Given the description of an element on the screen output the (x, y) to click on. 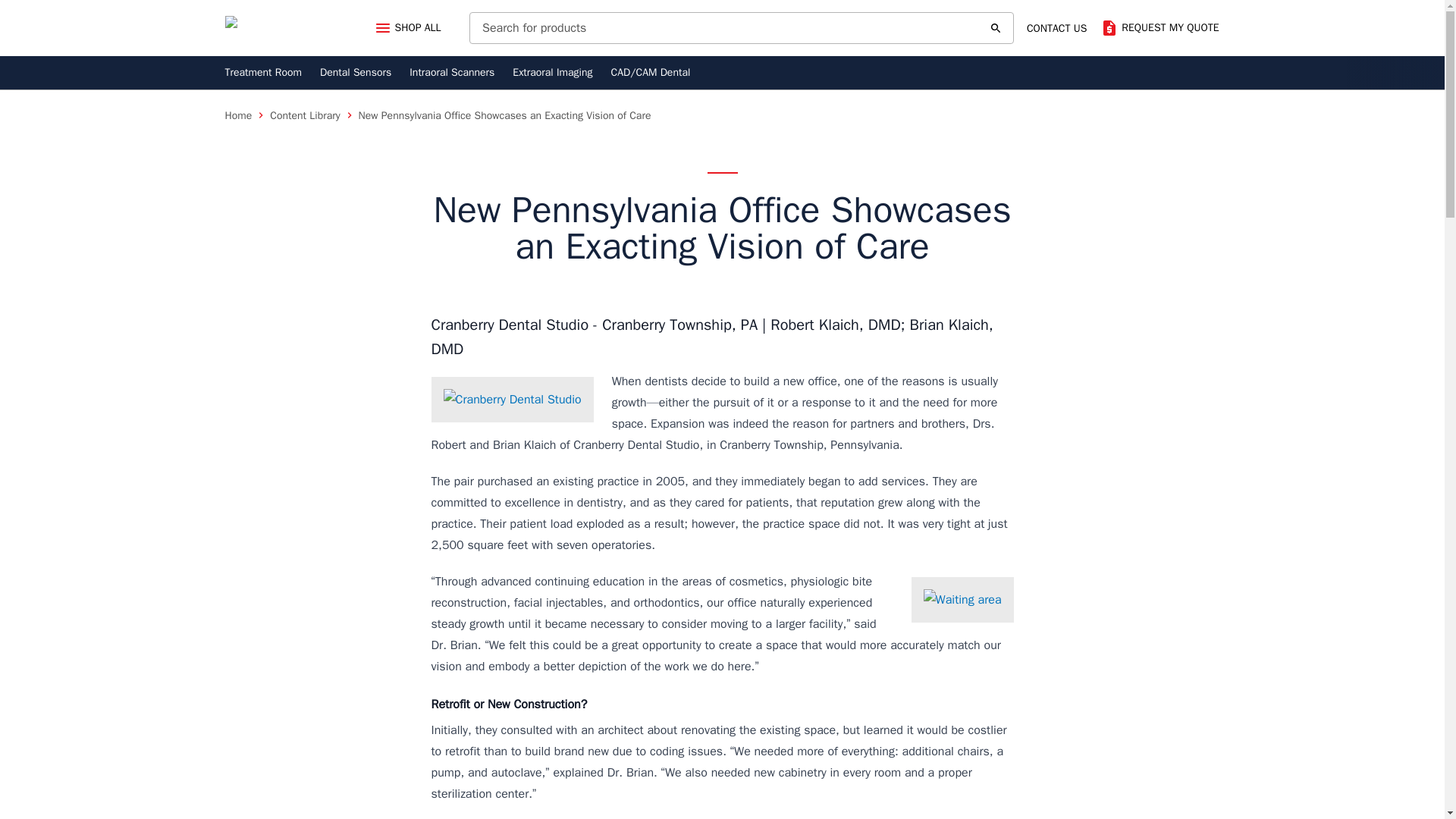
CONTACT US (1056, 28)
Search (994, 28)
Extraoral Imaging (552, 72)
Home (237, 115)
Treatment Room (262, 72)
Intraoral Scanners (452, 72)
REQUEST MY QUOTE (1159, 27)
Dental Sensors (355, 72)
Content Library (304, 115)
SHOP ALL (407, 28)
